Given the description of an element on the screen output the (x, y) to click on. 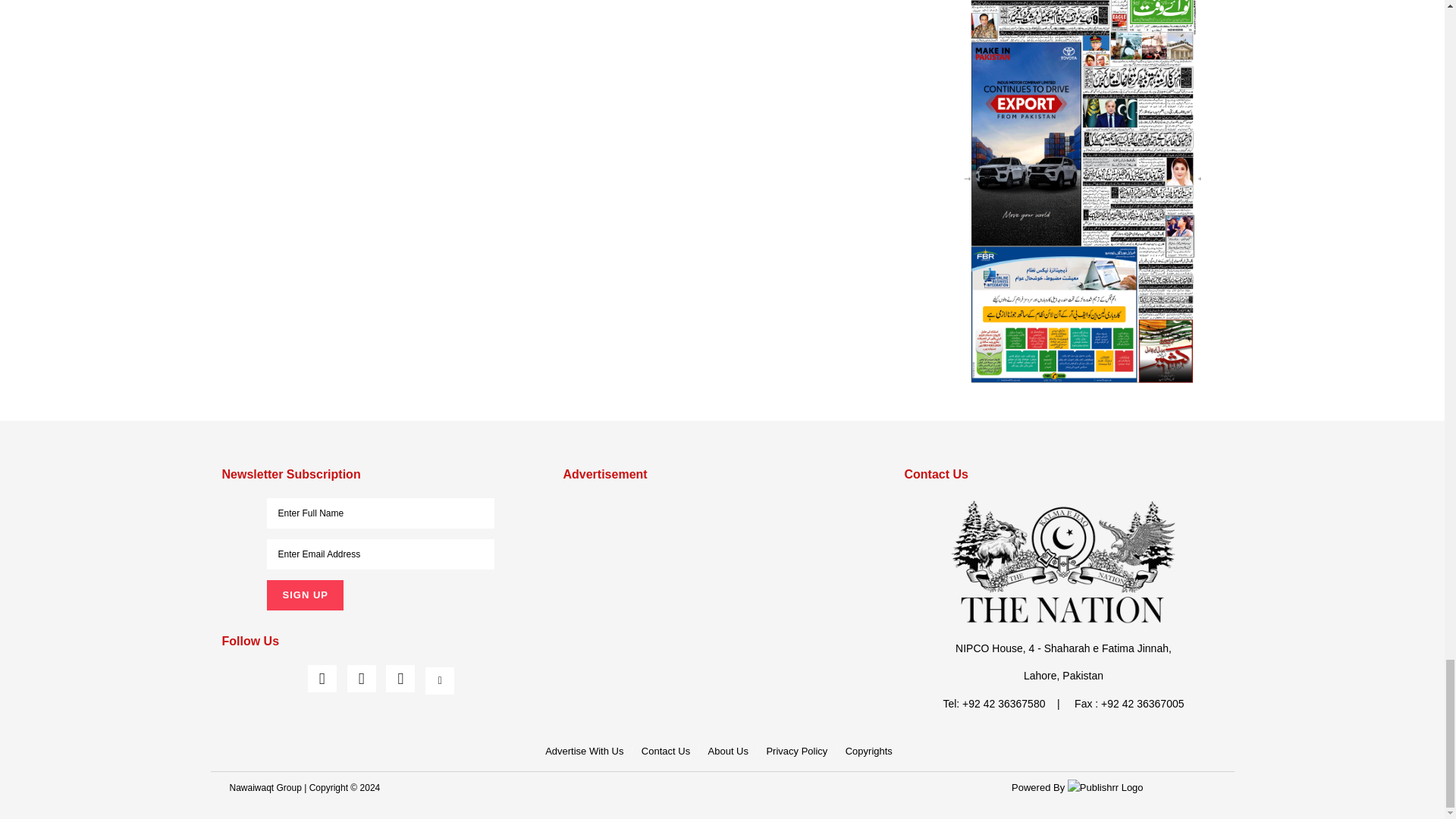
Sign up (304, 594)
